Given the description of an element on the screen output the (x, y) to click on. 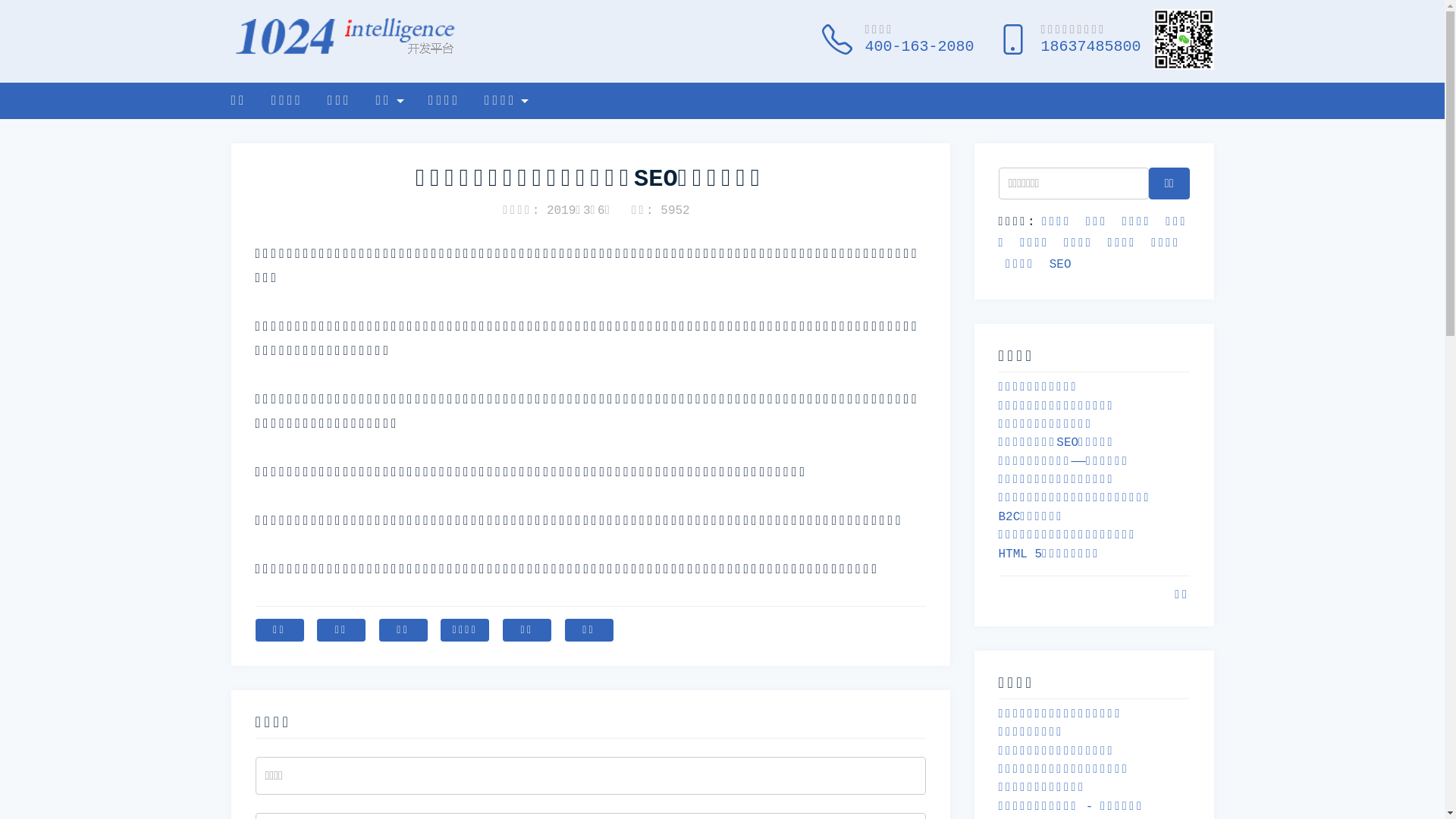
SEO Element type: text (1060, 264)
